Given the description of an element on the screen output the (x, y) to click on. 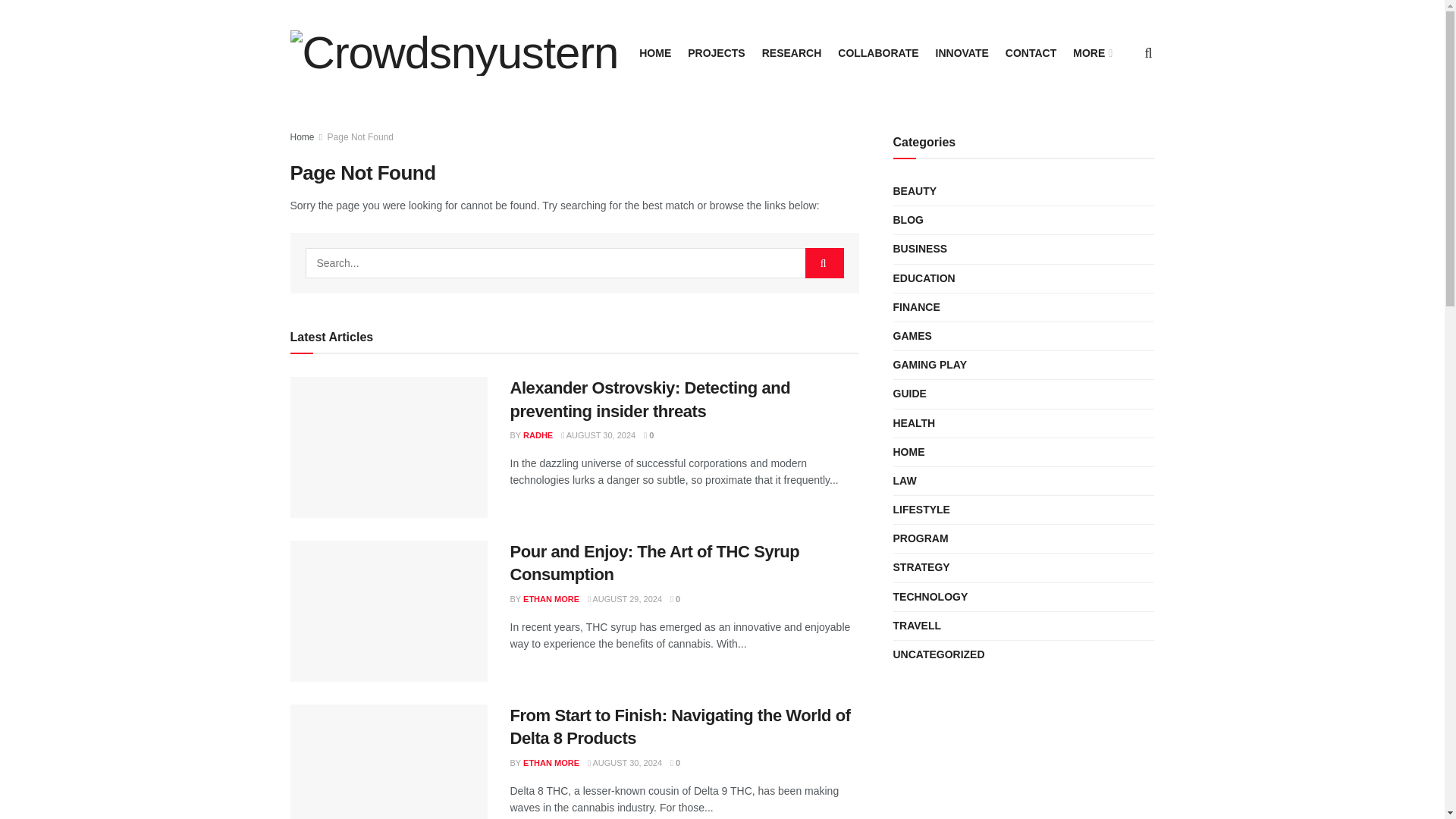
Page Not Found (360, 136)
0 (648, 434)
MORE (1091, 52)
PROJECTS (715, 52)
INNOVATE (962, 52)
RESEARCH (791, 52)
AUGUST 30, 2024 (597, 434)
ETHAN MORE (550, 598)
RADHE (537, 434)
